Given the description of an element on the screen output the (x, y) to click on. 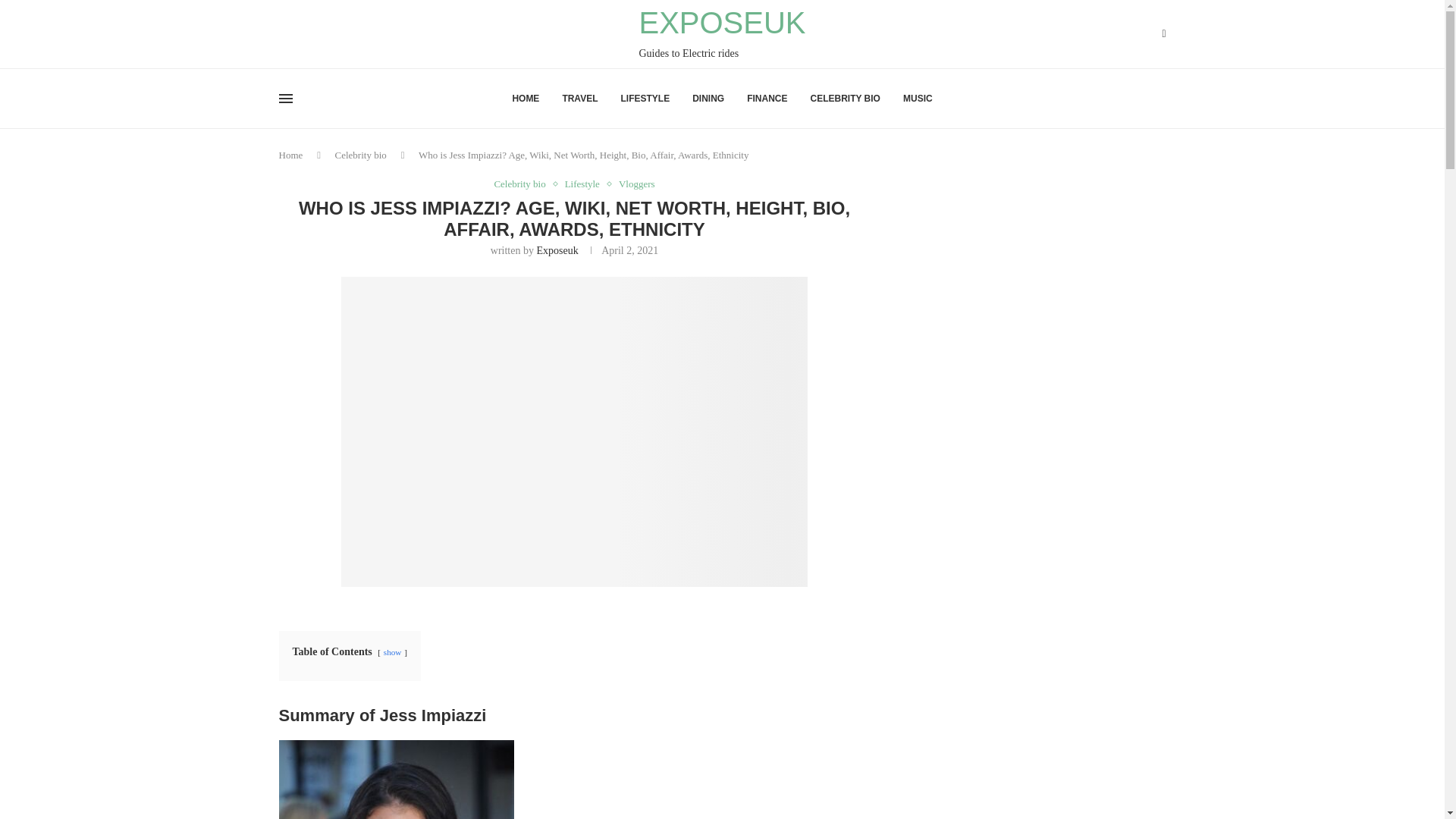
LIFESTYLE (644, 98)
FINANCE (766, 98)
Jess-Impiazzi (722, 33)
